Given the description of an element on the screen output the (x, y) to click on. 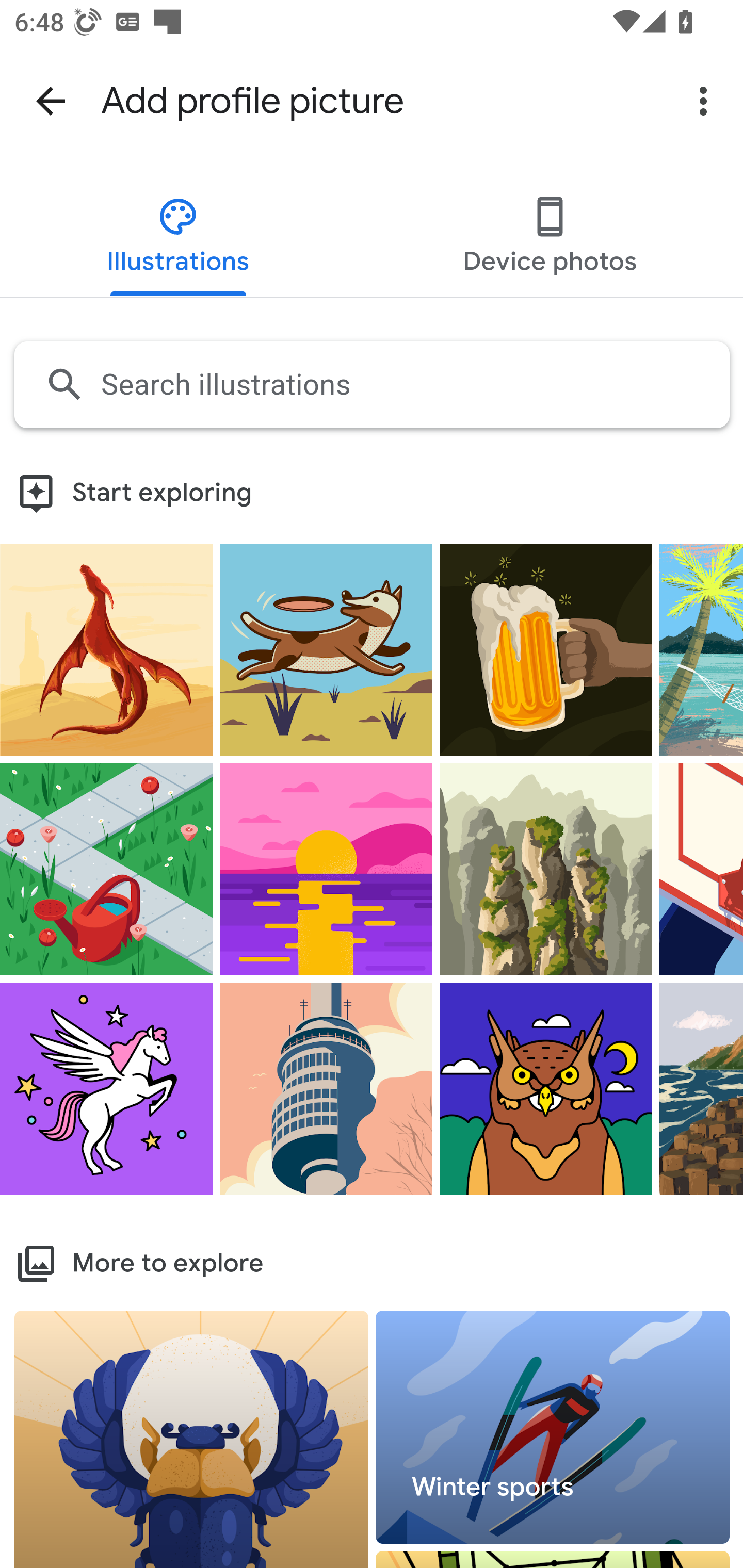
Navigate up (50, 101)
More options (706, 101)
Illustrations (178, 238)
Device photos (549, 238)
Flying wyvern (106, 647)
Dog jumps to catch flying disc (325, 647)
Hand holding a full beer mug (545, 647)
Watering can in flower garden (106, 869)
Colorful sunset is reflected in water (325, 869)
Zhangjiajie sandstone columns (545, 869)
Pegasus rears up (106, 1087)
Trees grow near Namsan Tower (325, 1087)
Alert owl at night (545, 1087)
Luck and blessings (192, 1438)
Winter sports (553, 1427)
